Given the description of an element on the screen output the (x, y) to click on. 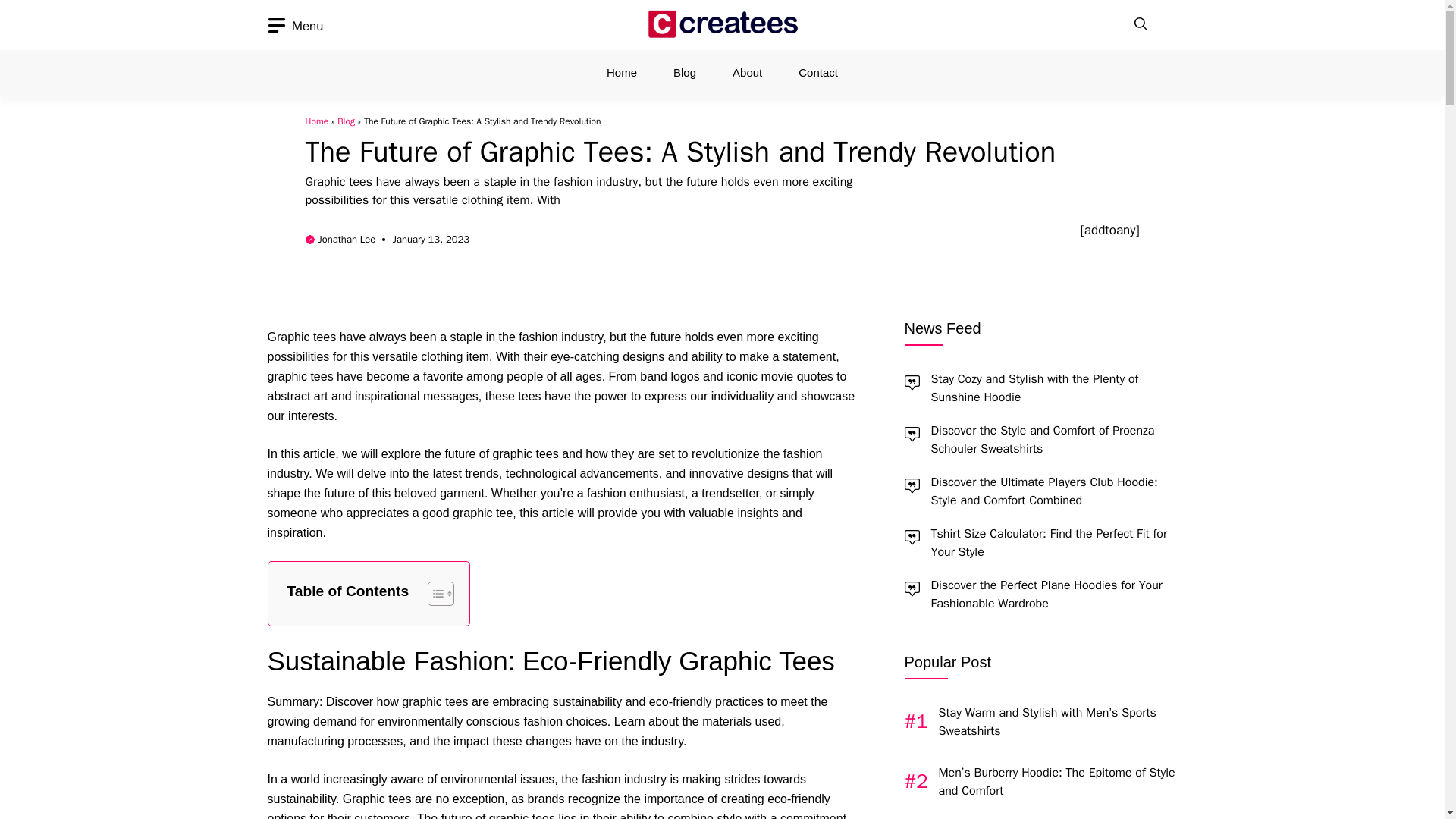
About (747, 72)
Home (316, 121)
Jonathan Lee (346, 238)
Blog (346, 121)
Home (621, 72)
Menu (294, 26)
Blog (684, 72)
Contact (818, 72)
